Given the description of an element on the screen output the (x, y) to click on. 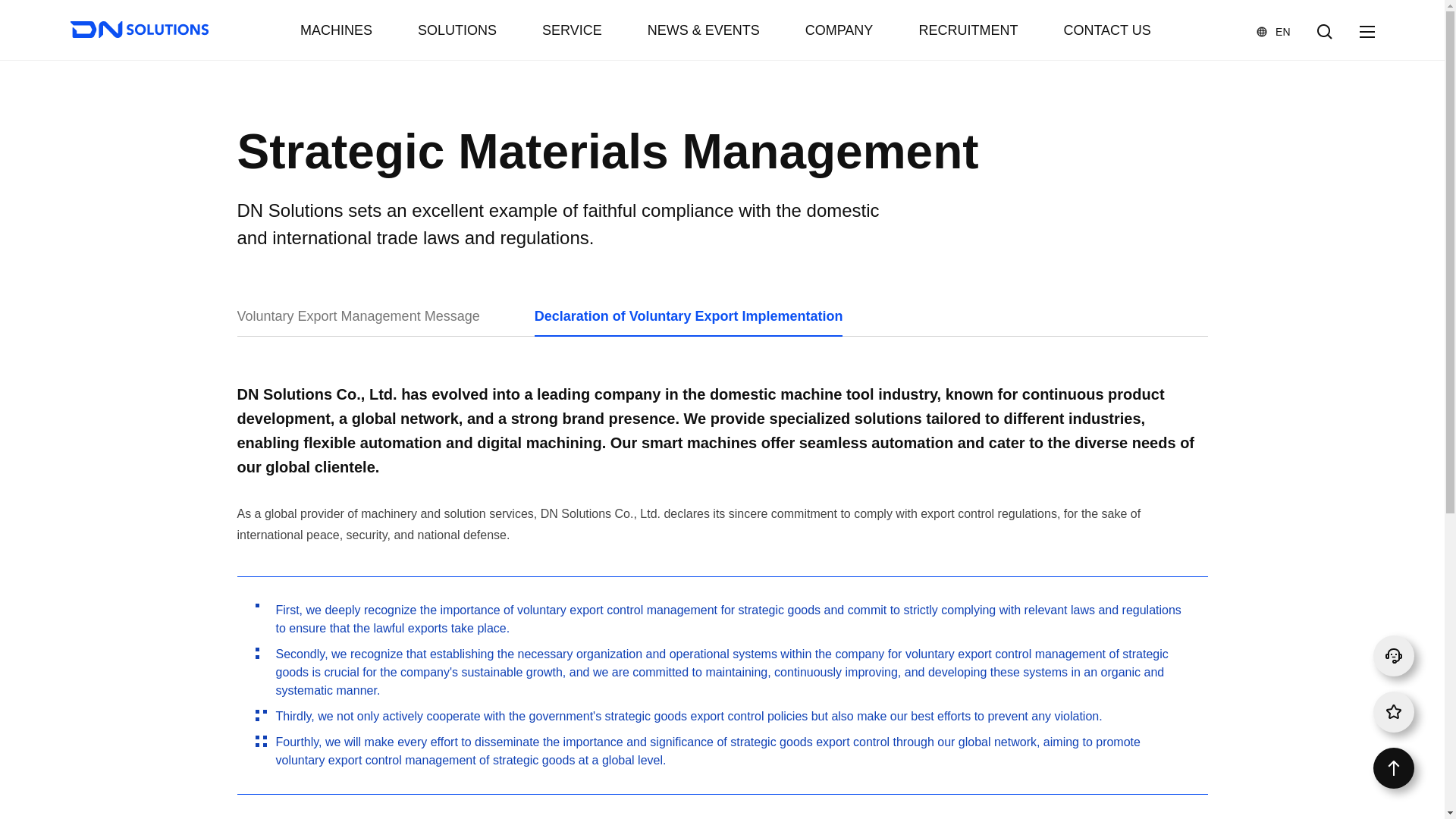
MACHINES (336, 30)
DN Solutions (138, 29)
